Given the description of an element on the screen output the (x, y) to click on. 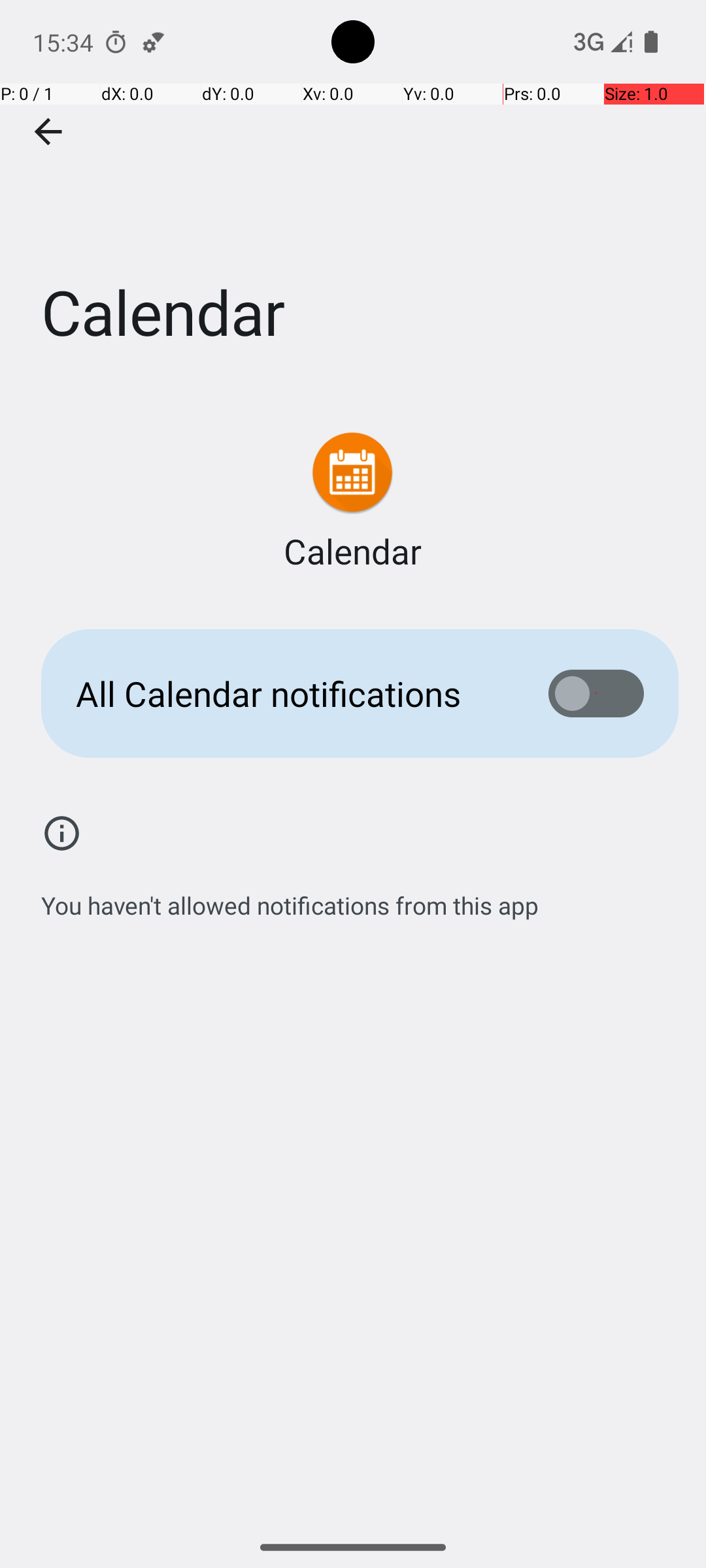
You haven't allowed notifications from this app Element type: android.widget.TextView (290, 898)
